Given the description of an element on the screen output the (x, y) to click on. 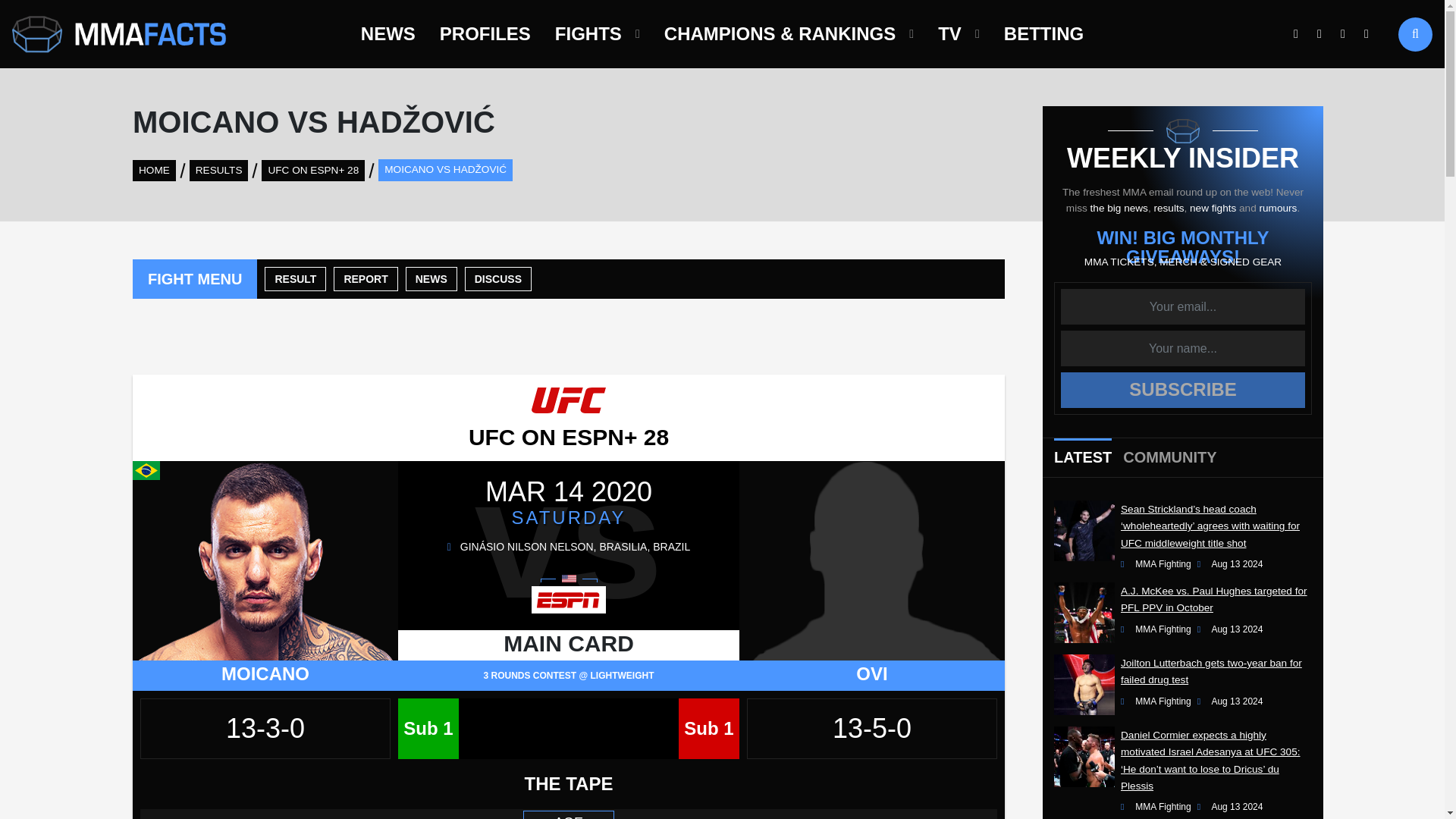
NEWS (387, 33)
NEWS (431, 278)
BETTING (1043, 33)
RESULT (295, 278)
REPORT (365, 278)
PROFILES (485, 33)
DISCUSS (497, 278)
HOME (154, 169)
MOICANO (264, 673)
FIGHTS (587, 33)
